Given the description of an element on the screen output the (x, y) to click on. 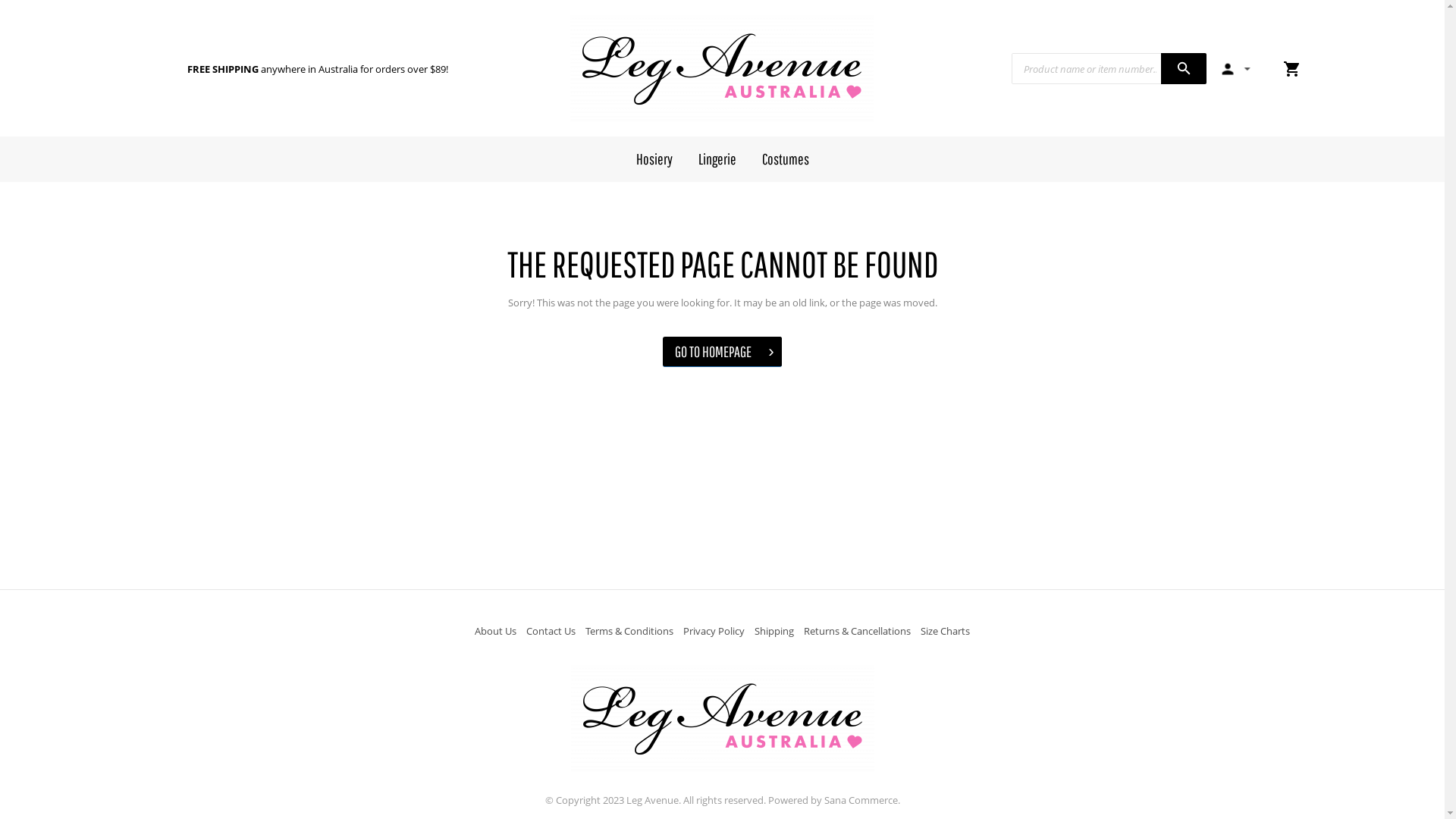
Privacy Policy Element type: text (713, 630)
Costumes Element type: text (785, 159)
Returns & Cancellations Element type: text (856, 630)
About Us Element type: text (495, 630)
Hosiery Element type: text (654, 159)
Contact Us Element type: text (550, 630)
Lingerie Element type: text (717, 159)
Shipping Element type: text (773, 630)
Terms & Conditions Element type: text (629, 630)
GO TO HOMEPAGE Element type: text (721, 351)
Homepage Element type: text (721, 68)
Size Charts Element type: text (944, 630)
Homepage Element type: text (721, 718)
